Given the description of an element on the screen output the (x, y) to click on. 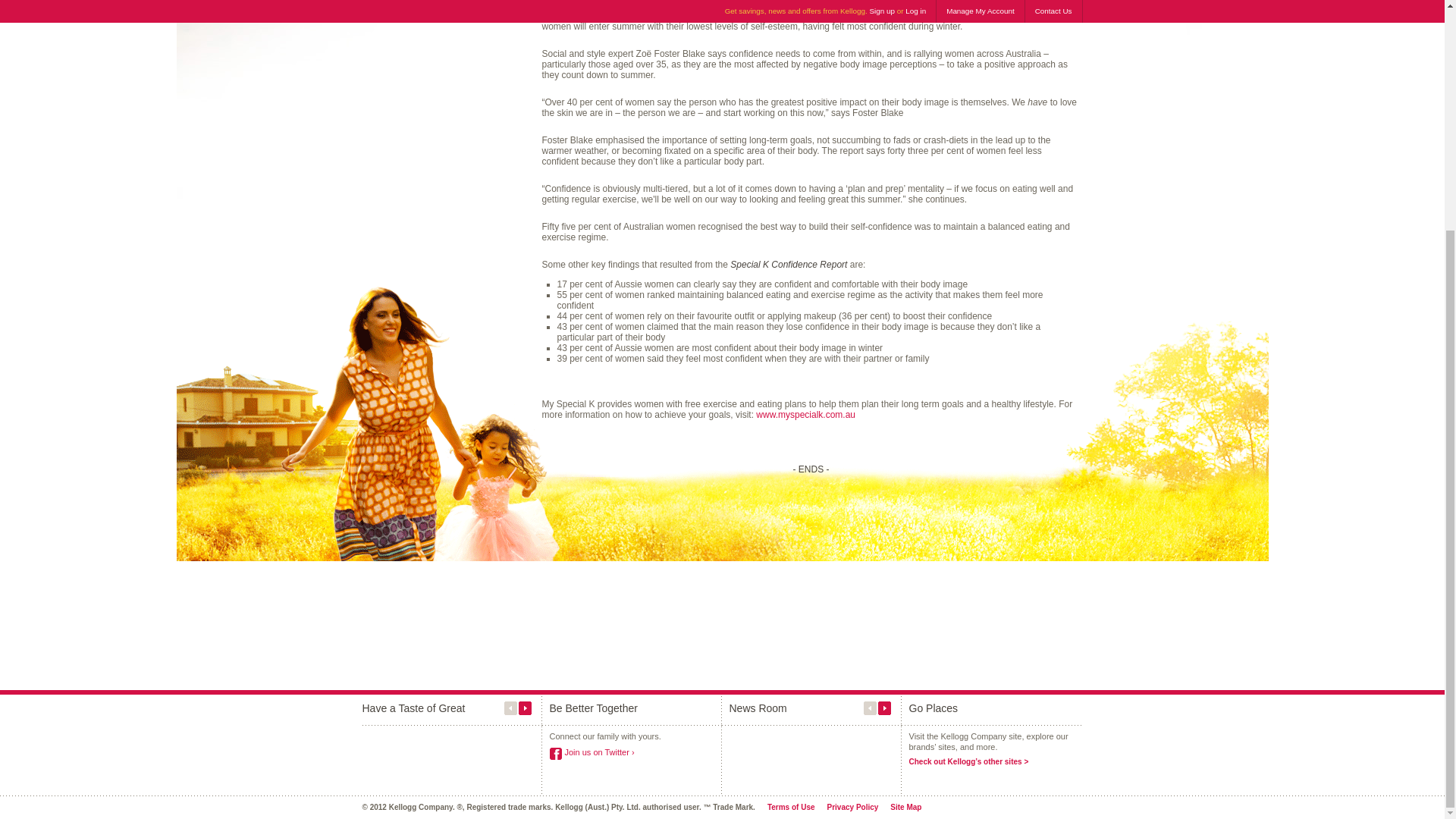
www.myspecialk.com.au (805, 414)
